Given the description of an element on the screen output the (x, y) to click on. 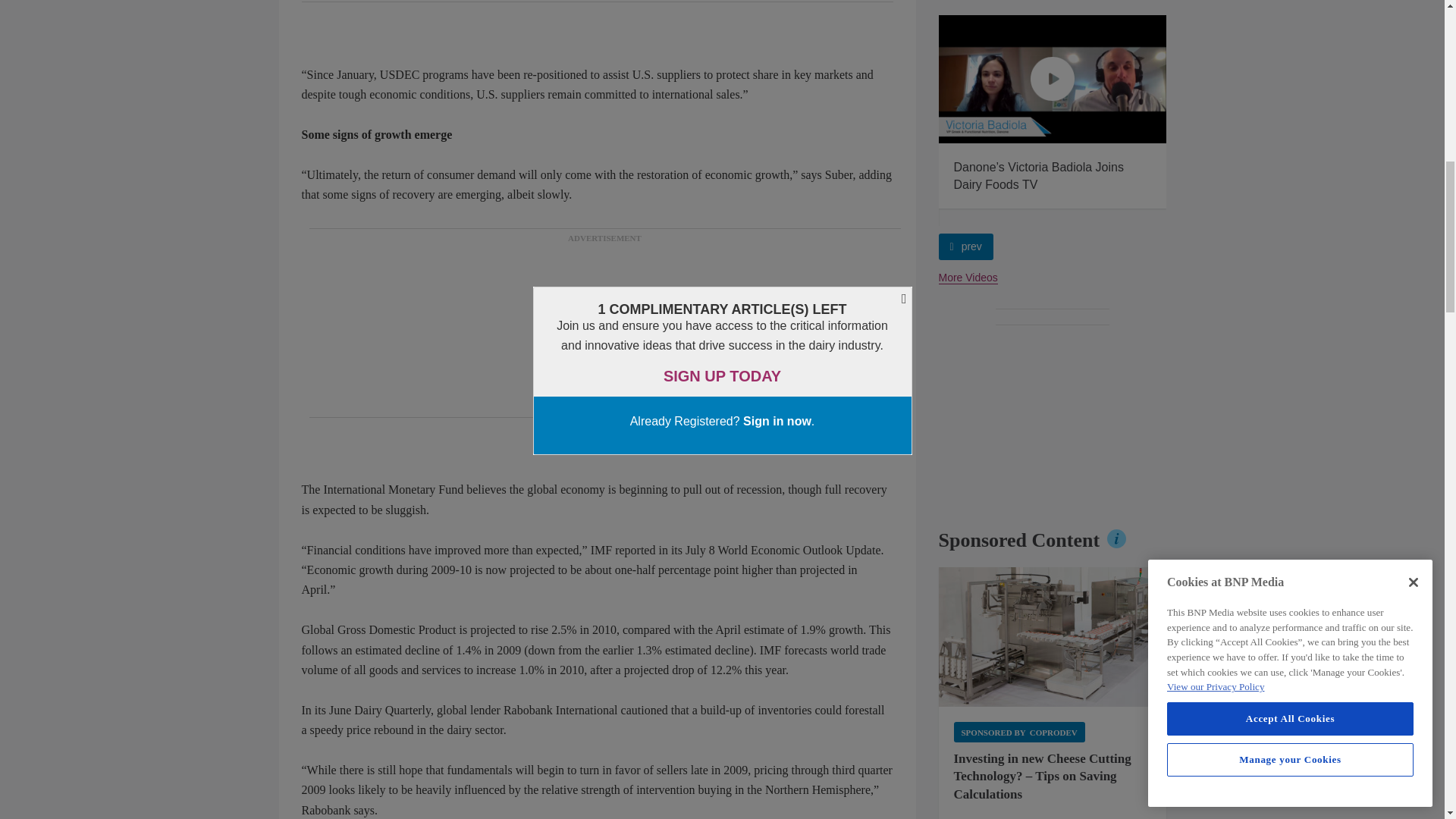
Sponsored by CoProDev (1018, 731)
cheese cutting equipment (1052, 636)
